Given the description of an element on the screen output the (x, y) to click on. 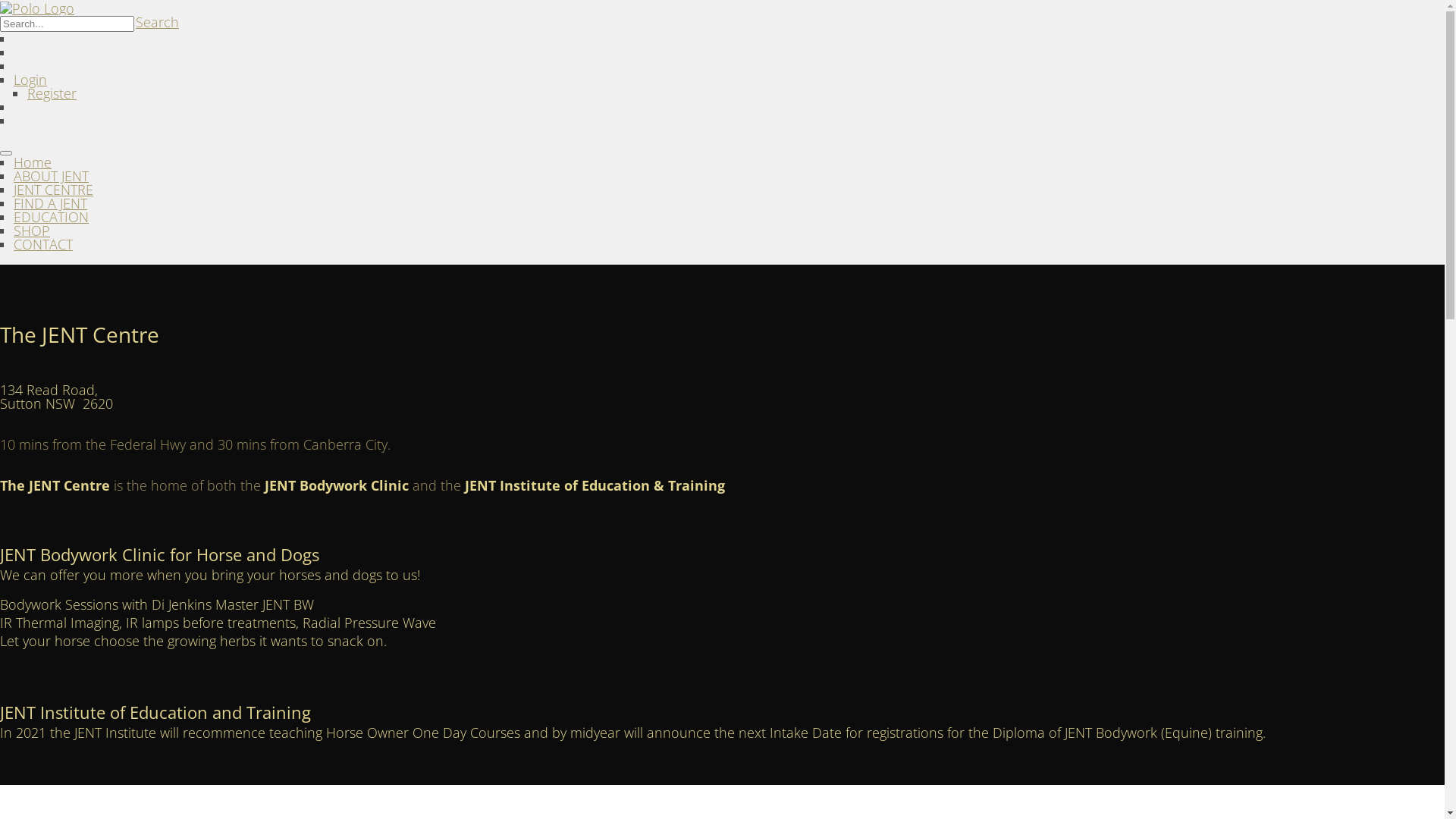
Home Element type: text (32, 162)
Register Element type: text (51, 93)
FIND A JENT Element type: text (50, 203)
Login Element type: text (30, 79)
SHOP Element type: text (31, 230)
ABOUT JENT Element type: text (50, 175)
JENT CENTRE Element type: text (53, 189)
Clear search text Element type: hover (120, 43)
CONTACT Element type: text (42, 244)
EDUCATION Element type: text (50, 216)
Search Element type: text (156, 21)
